Given the description of an element on the screen output the (x, y) to click on. 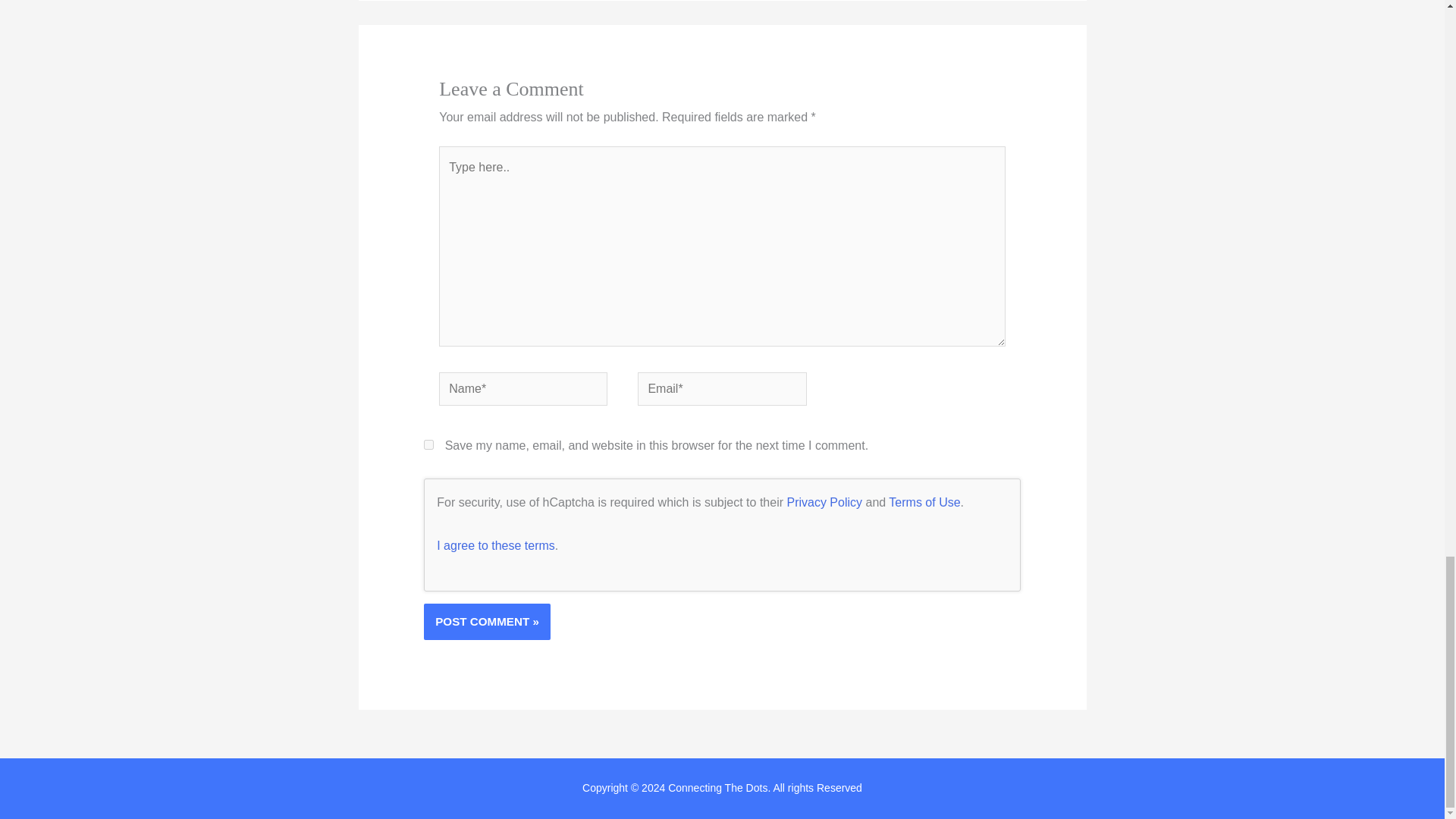
Terms of Use (923, 502)
yes (428, 444)
I agree to these terms (495, 545)
Privacy Policy (823, 502)
